Given the description of an element on the screen output the (x, y) to click on. 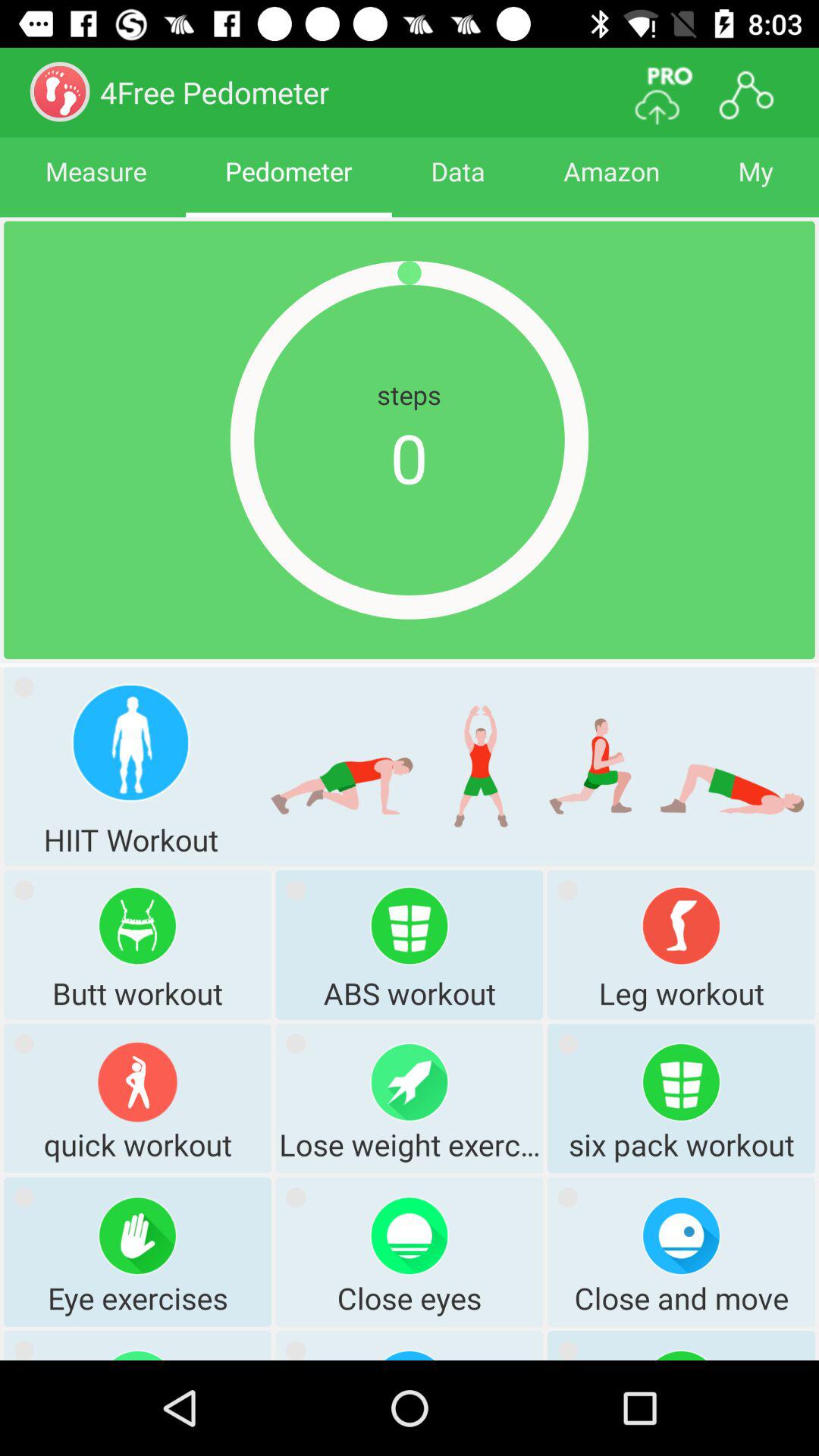
open item to the left of amazon app (457, 185)
